Given the description of an element on the screen output the (x, y) to click on. 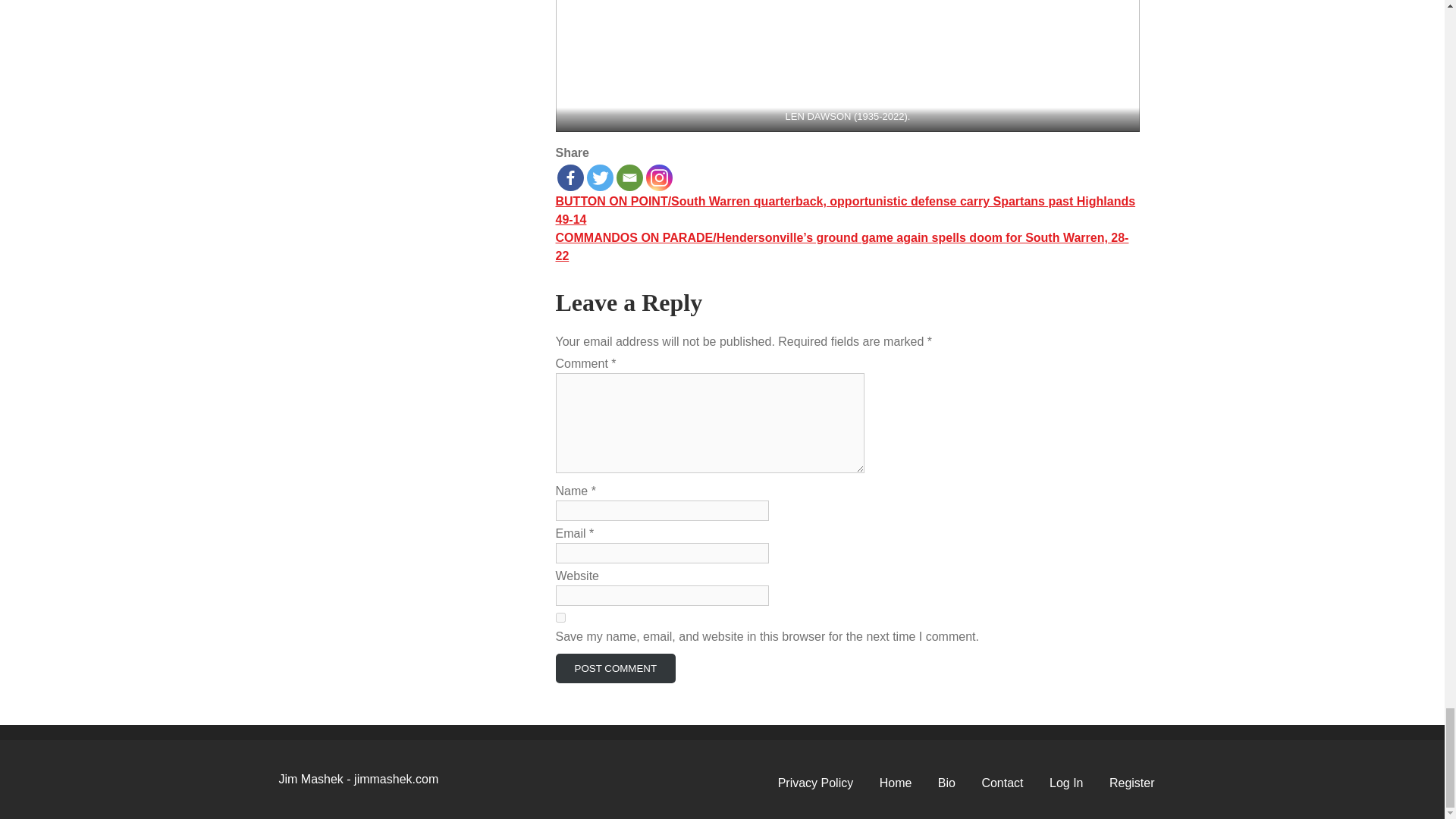
Instagram (659, 177)
Post Comment (614, 668)
Email (628, 177)
Post Comment (614, 668)
yes (559, 617)
Facebook (569, 177)
Twitter (599, 177)
